Given the description of an element on the screen output the (x, y) to click on. 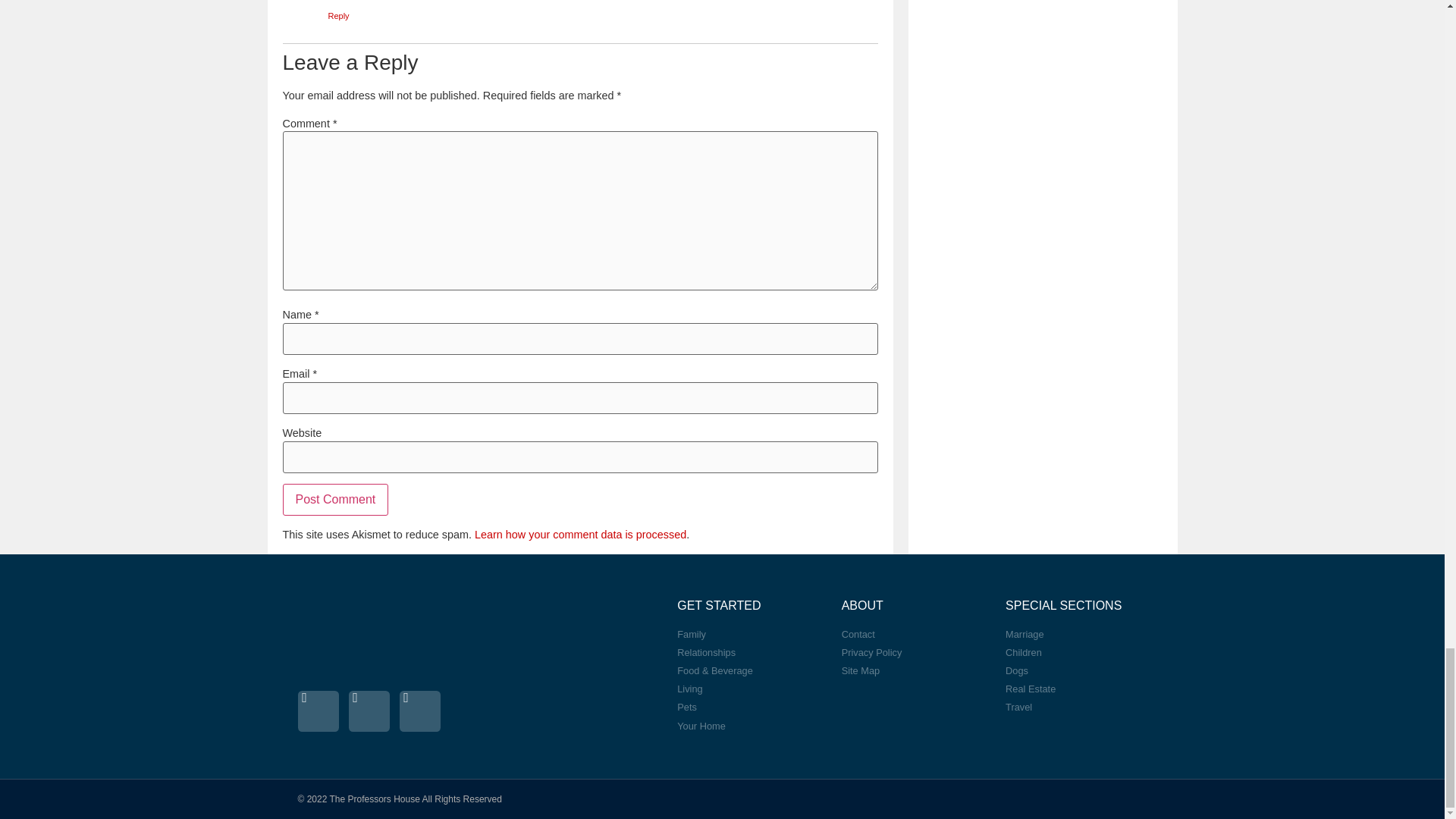
Post Comment (335, 499)
